Given the description of an element on the screen output the (x, y) to click on. 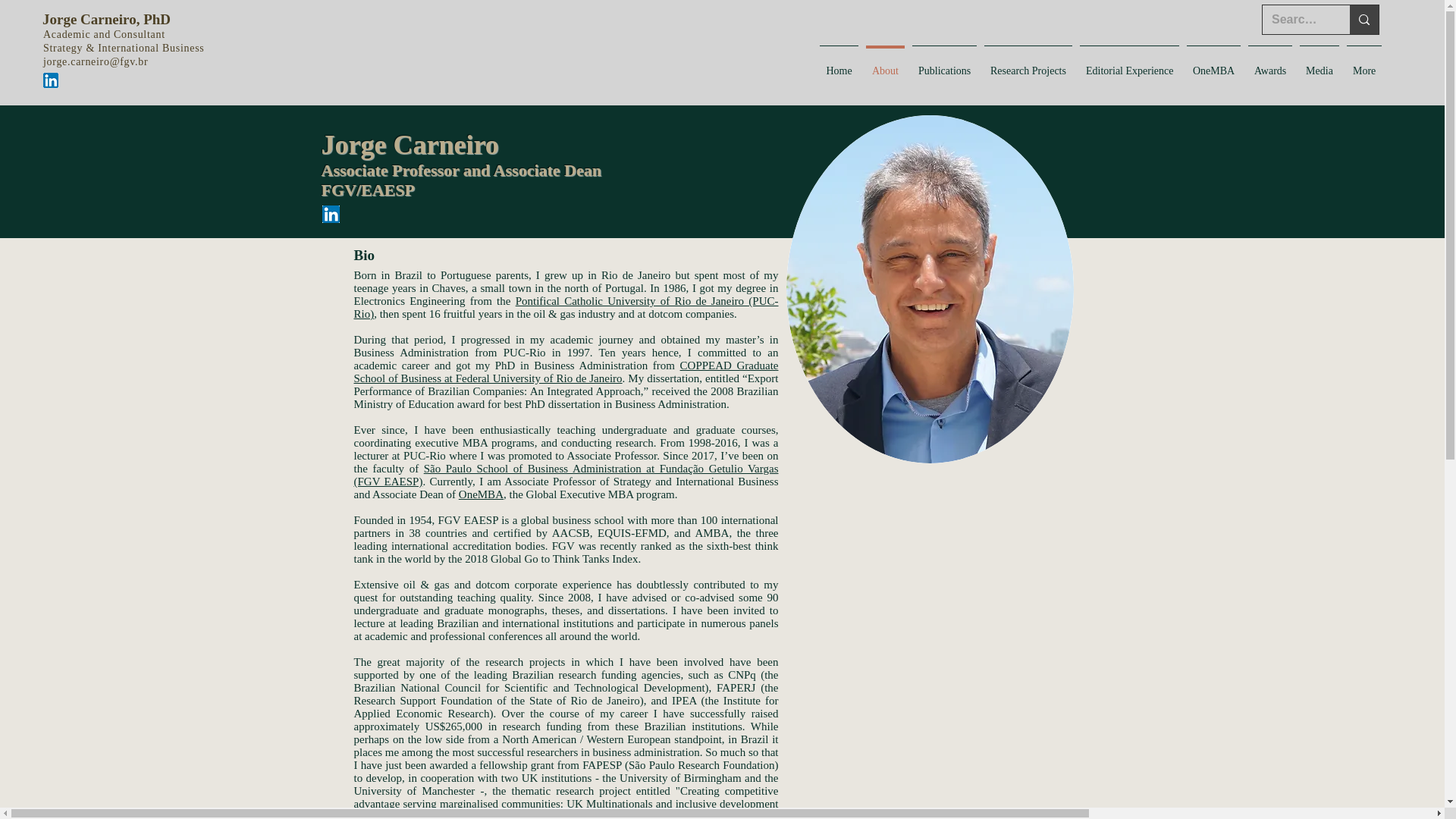
Awards (1269, 64)
OneMBA (1213, 64)
Publications (943, 64)
Editorial Experience (1128, 64)
OneMBA (480, 494)
Media (1318, 64)
Research Projects (1027, 64)
Jorge Carneiro, PhD (106, 19)
Home (838, 64)
About (884, 64)
